Given the description of an element on the screen output the (x, y) to click on. 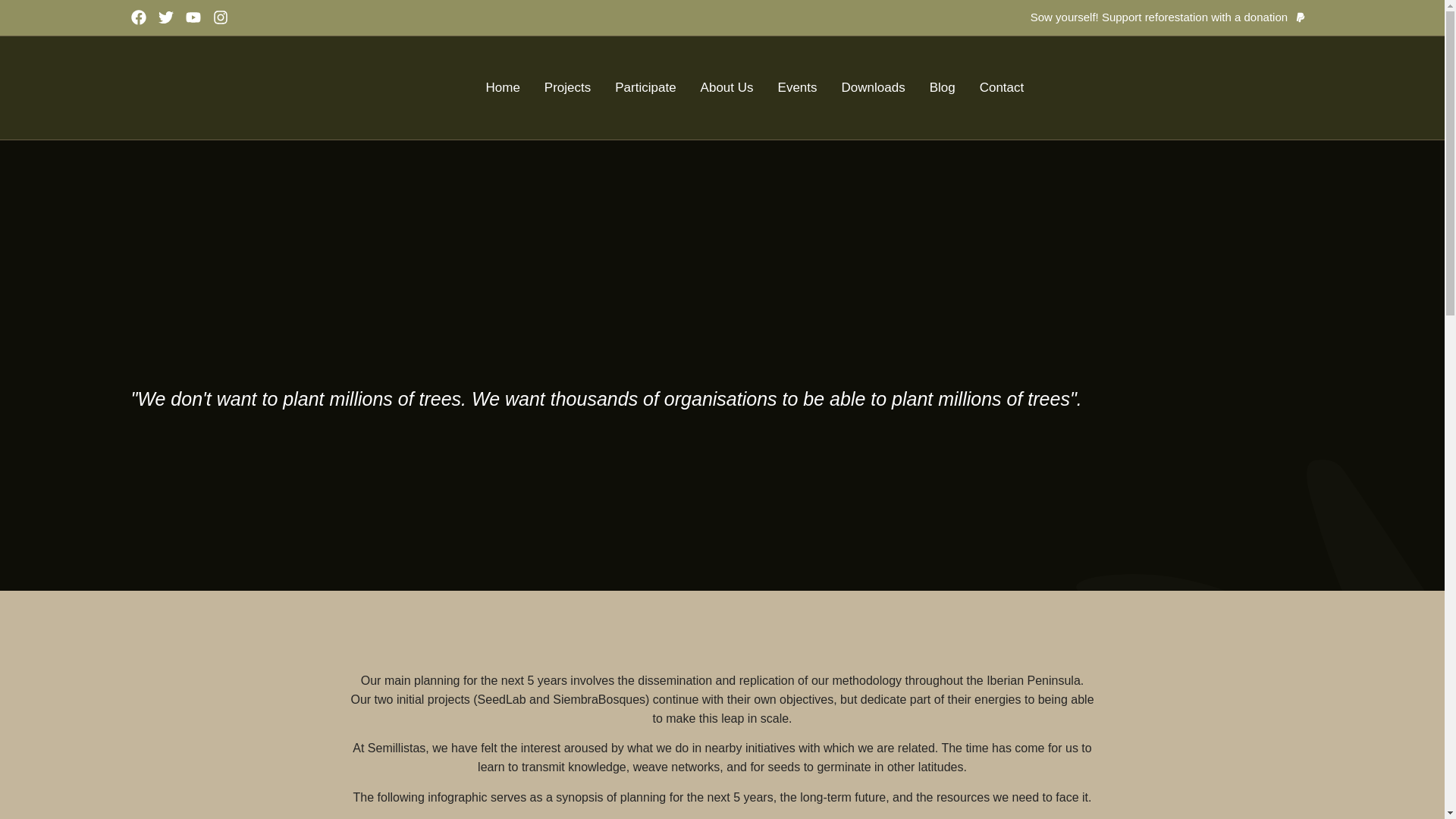
About Us (727, 87)
LogoSemillistasConTexto (271, 87)
Events (796, 87)
Contact (1002, 87)
Downloads (873, 87)
Blog (942, 87)
Sow yourself! Support reforestation with a donation (1158, 17)
Home (501, 87)
Participate (644, 87)
Projects (567, 87)
